Given the description of an element on the screen output the (x, y) to click on. 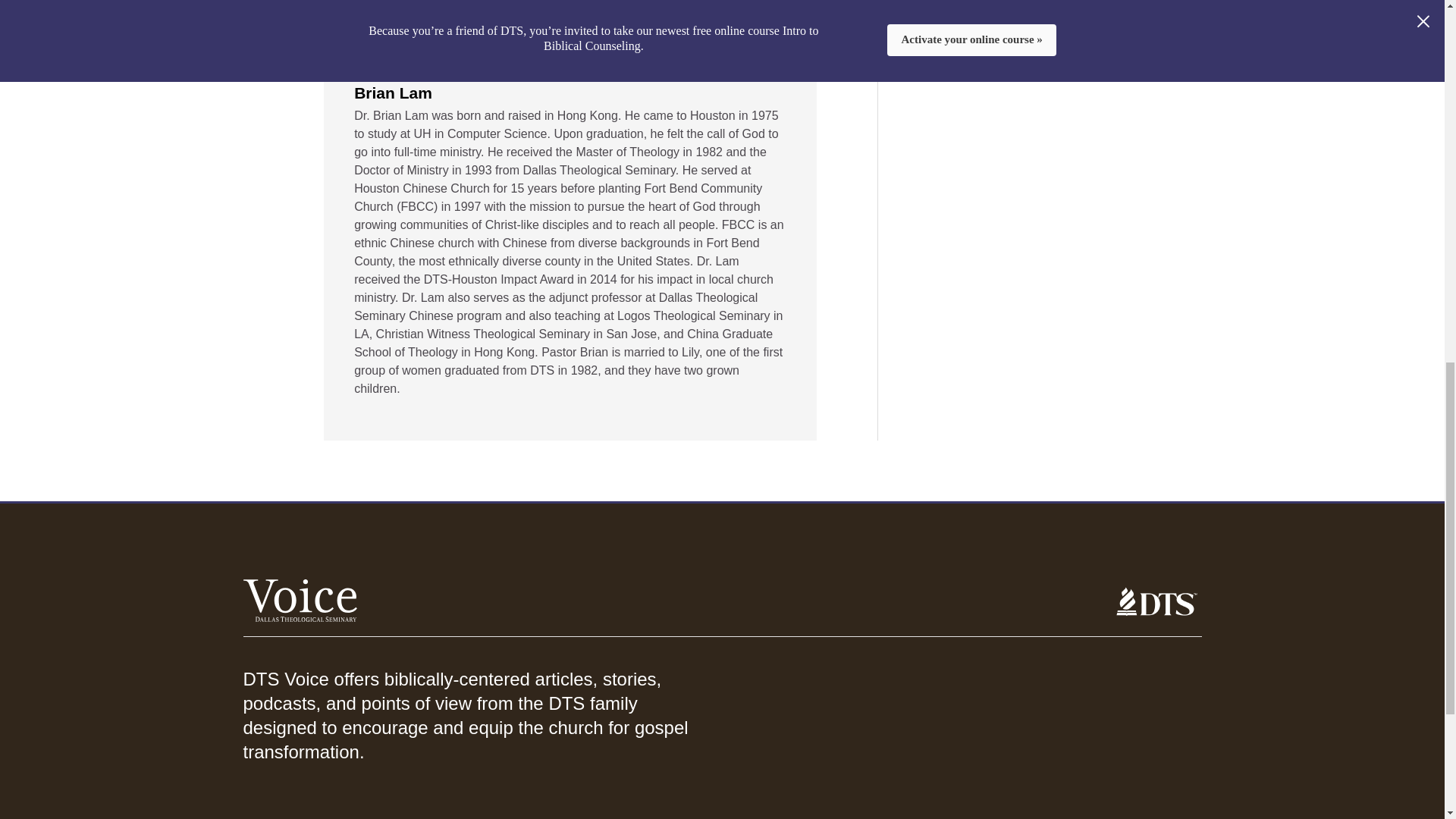
Brian Lam (392, 93)
